Given the description of an element on the screen output the (x, y) to click on. 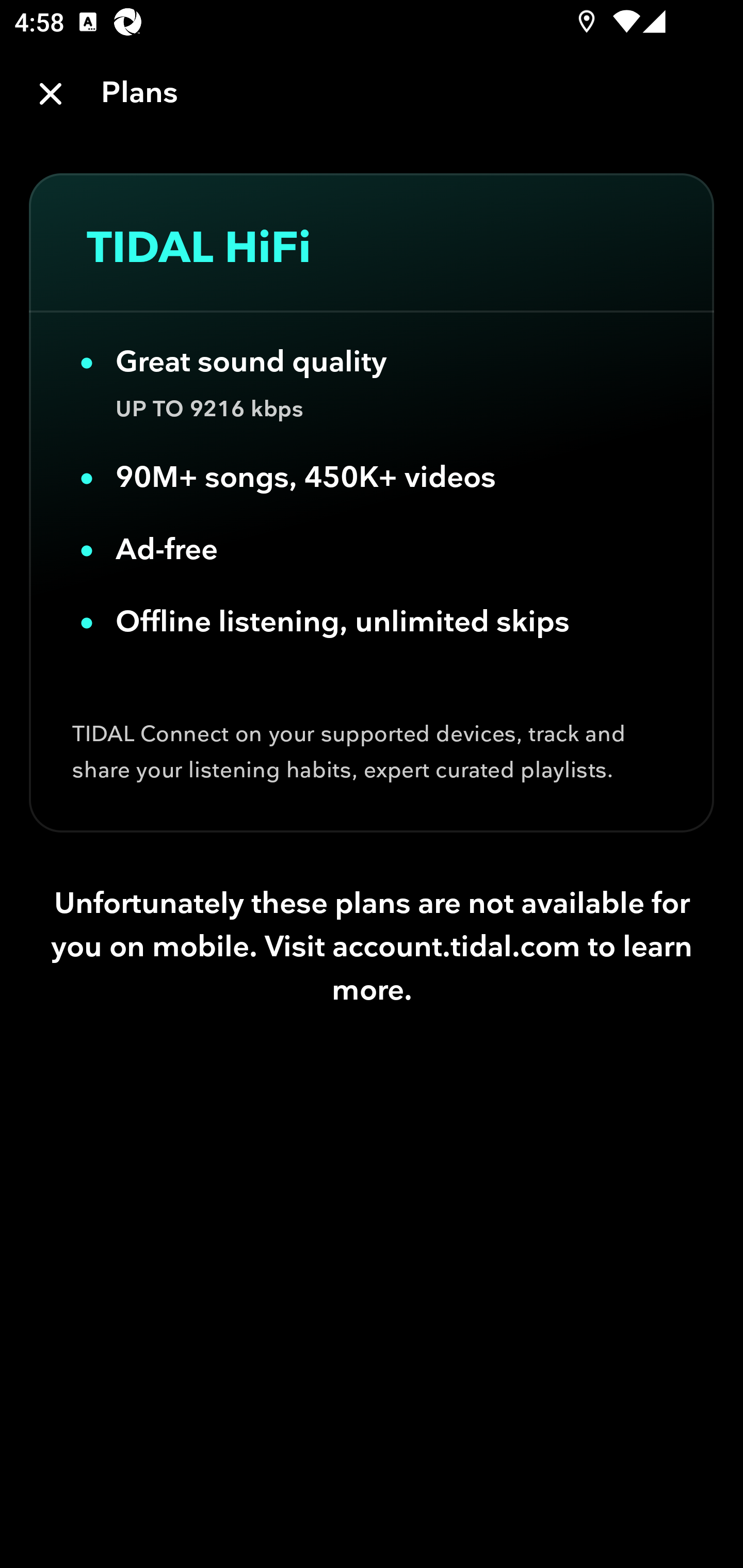
Close (50, 93)
